Given the description of an element on the screen output the (x, y) to click on. 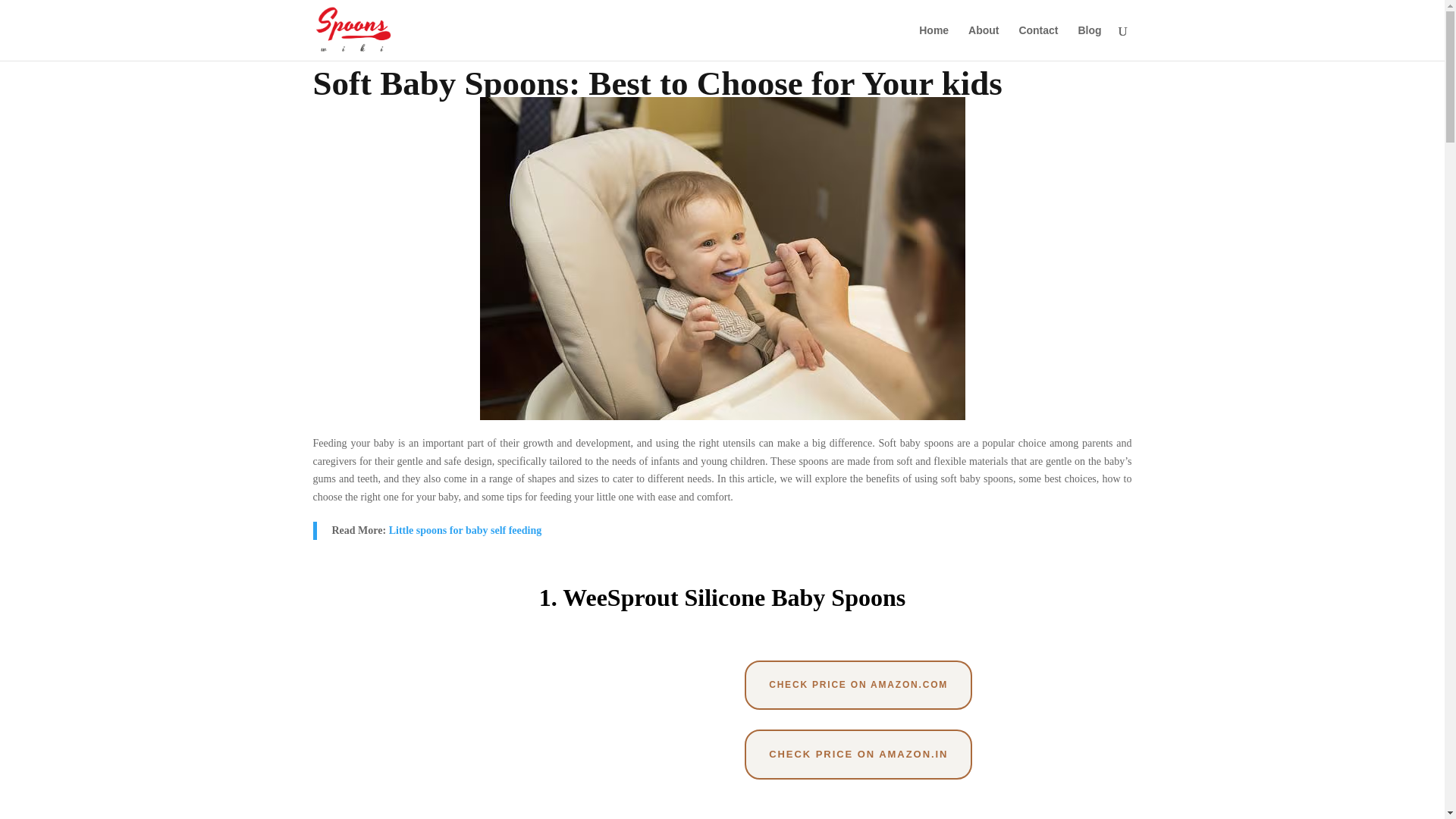
CHECK PRICE ON AMAZON.IN (858, 754)
CHECK PRICE ON AMAZON.COM (858, 684)
Contact (1037, 42)
Little spoons for baby self feeding (464, 530)
